Given the description of an element on the screen output the (x, y) to click on. 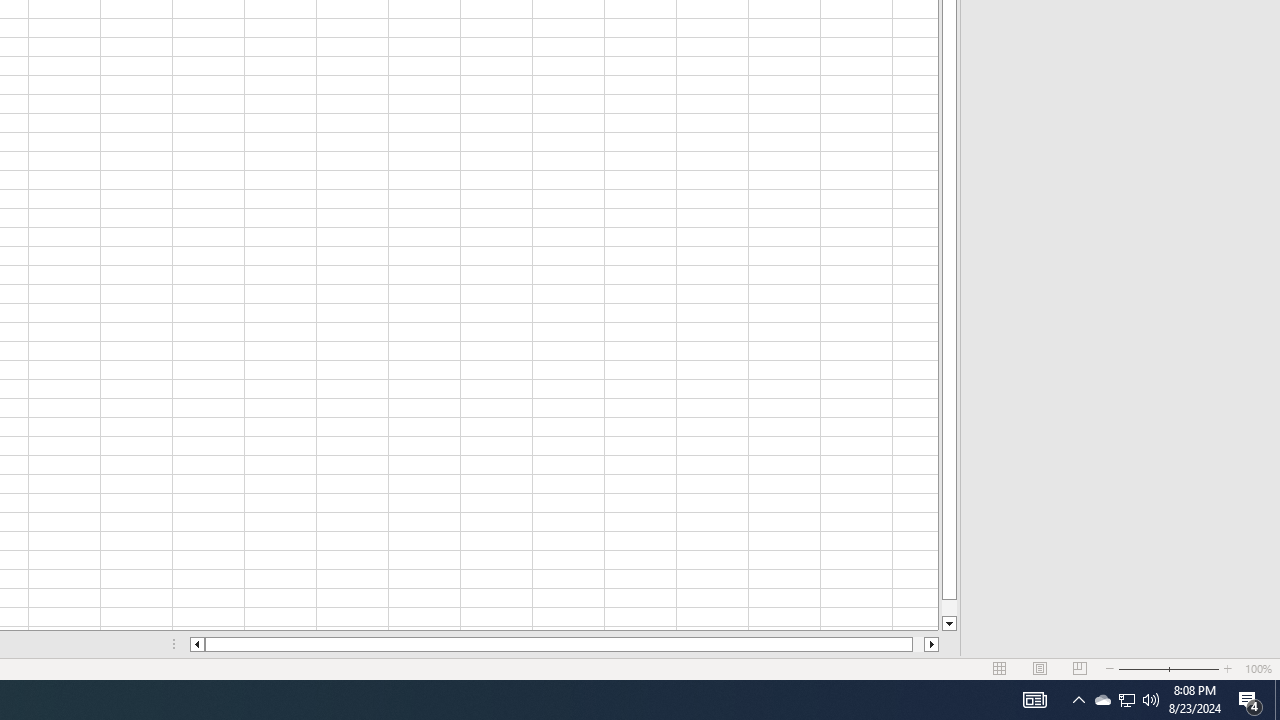
Normal (1000, 668)
Page down (948, 607)
Page right (918, 644)
Column right (932, 644)
Column left (196, 644)
Page Break Preview (1079, 668)
Zoom Out (1142, 668)
Class: NetUIScrollBar (564, 644)
Zoom (1168, 668)
Zoom In (1227, 668)
Line down (948, 624)
